Given the description of an element on the screen output the (x, y) to click on. 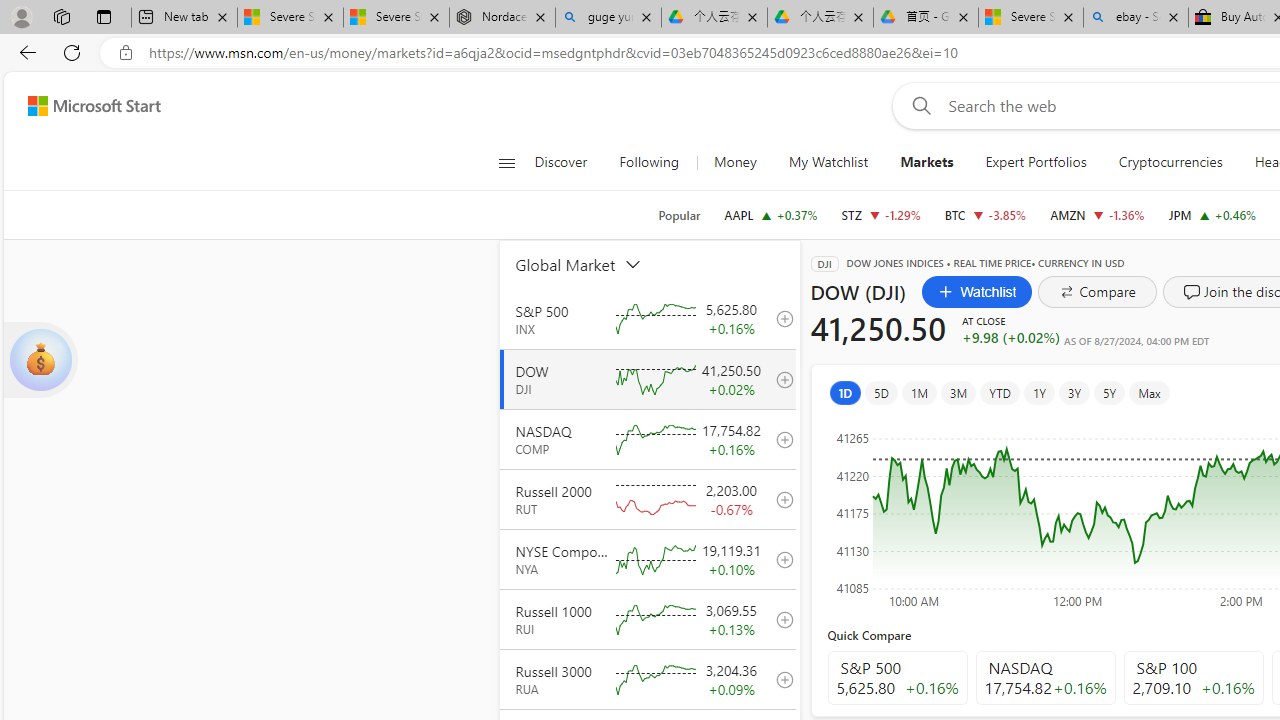
1Y (1038, 392)
AAPL APPLE INC. increase 228.03 +0.85 +0.37% (770, 214)
Expert Portfolios (1035, 162)
Global Market (601, 264)
STZ CONSTELLATION BRANDS, INC. decrease 239.98 -3.13 -1.29% (881, 214)
5Y (1110, 392)
1D (845, 392)
Markets (926, 162)
